Given the description of an element on the screen output the (x, y) to click on. 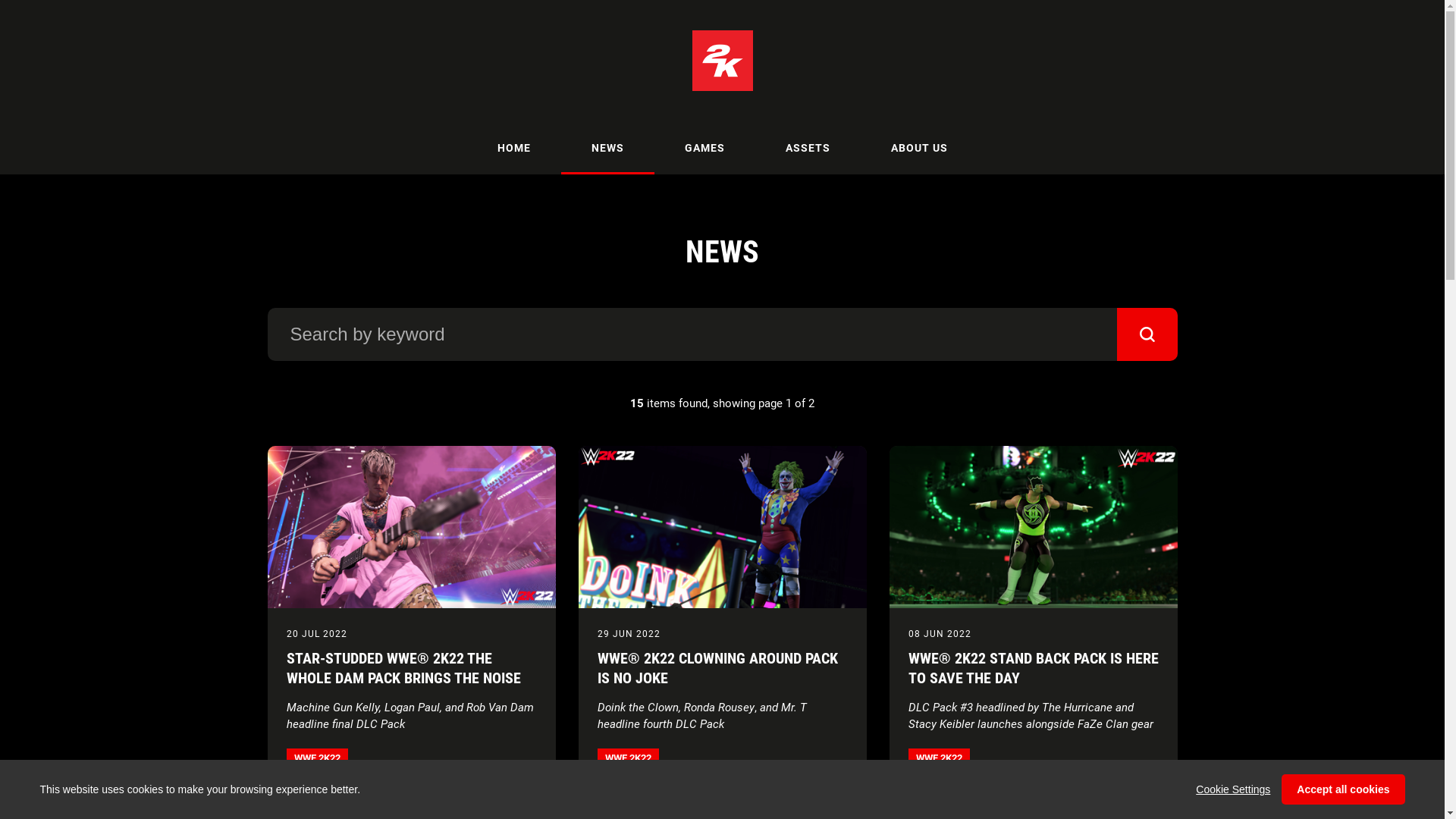
WWE 2K22 Element type: text (317, 758)
NEWS Element type: text (607, 147)
Go Element type: hover (1146, 333)
WWE 2K22 Element type: text (938, 758)
GAMES Element type: text (703, 147)
ABOUT US Element type: text (918, 147)
Accept all cookies Element type: text (1342, 789)
ASSETS Element type: text (807, 147)
Cookie Settings Element type: text (1232, 789)
WWE 2K22 Element type: text (627, 758)
HOME Element type: text (514, 147)
